Given the description of an element on the screen output the (x, y) to click on. 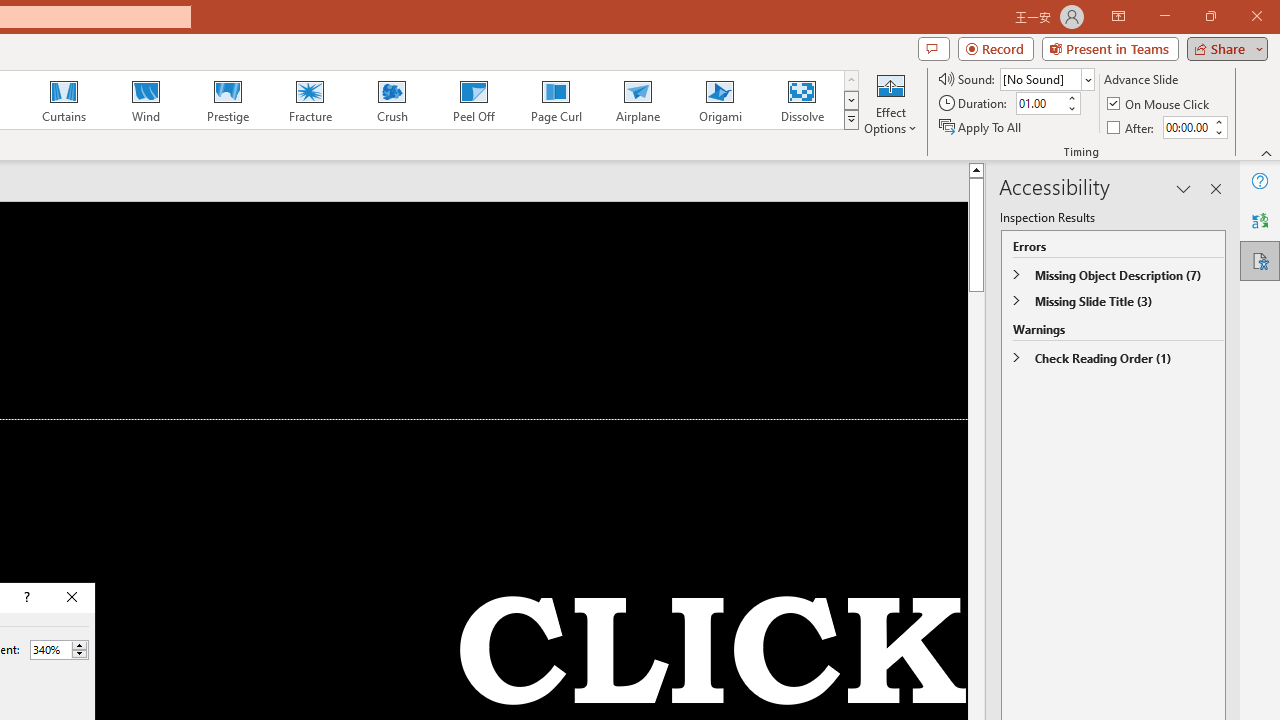
Sound (1046, 78)
Wind (145, 100)
Curtains (63, 100)
Origami (719, 100)
Fracture (309, 100)
